Given the description of an element on the screen output the (x, y) to click on. 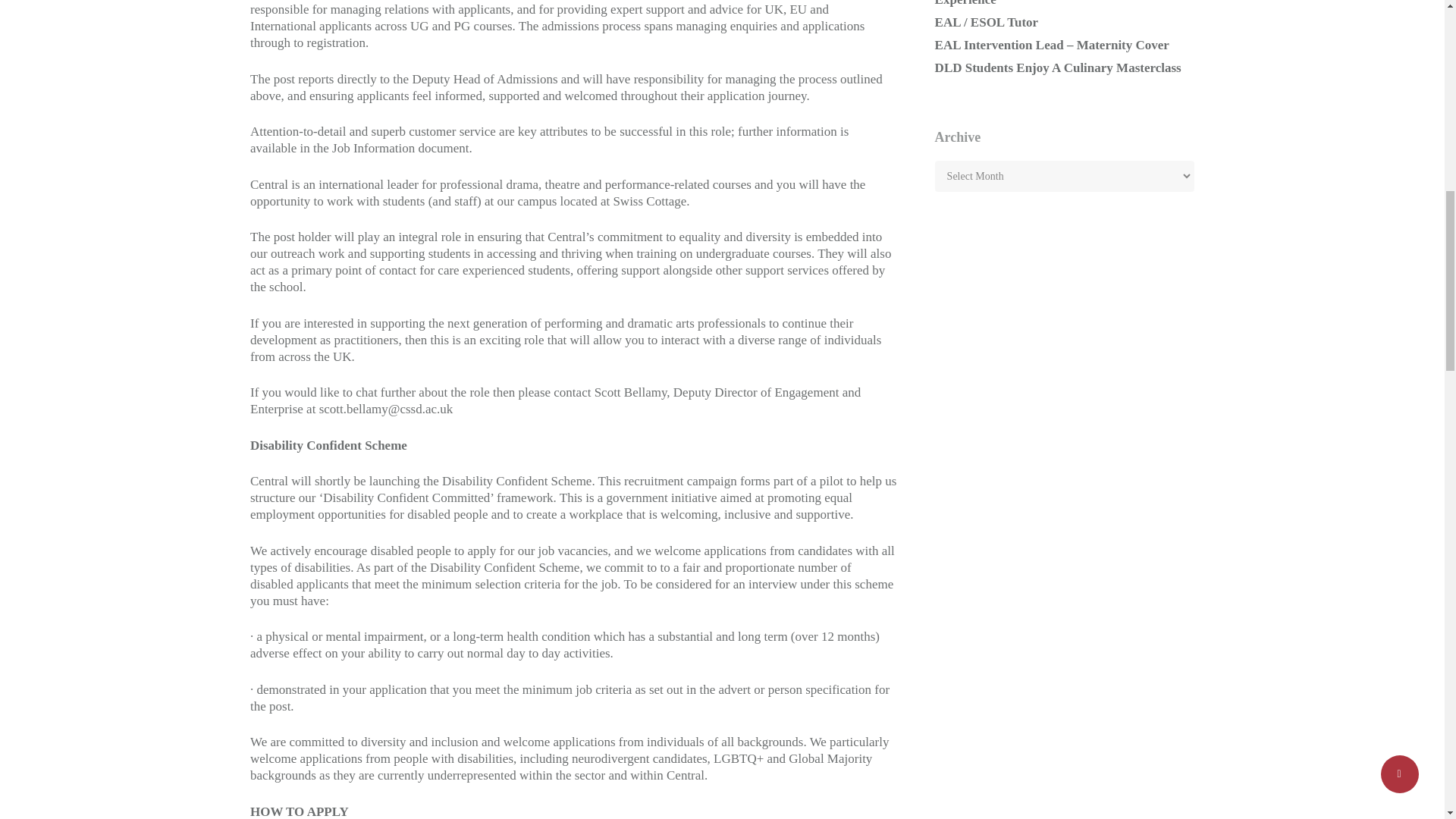
DLD Students Enjoy A Culinary Masterclass (1063, 67)
